Given the description of an element on the screen output the (x, y) to click on. 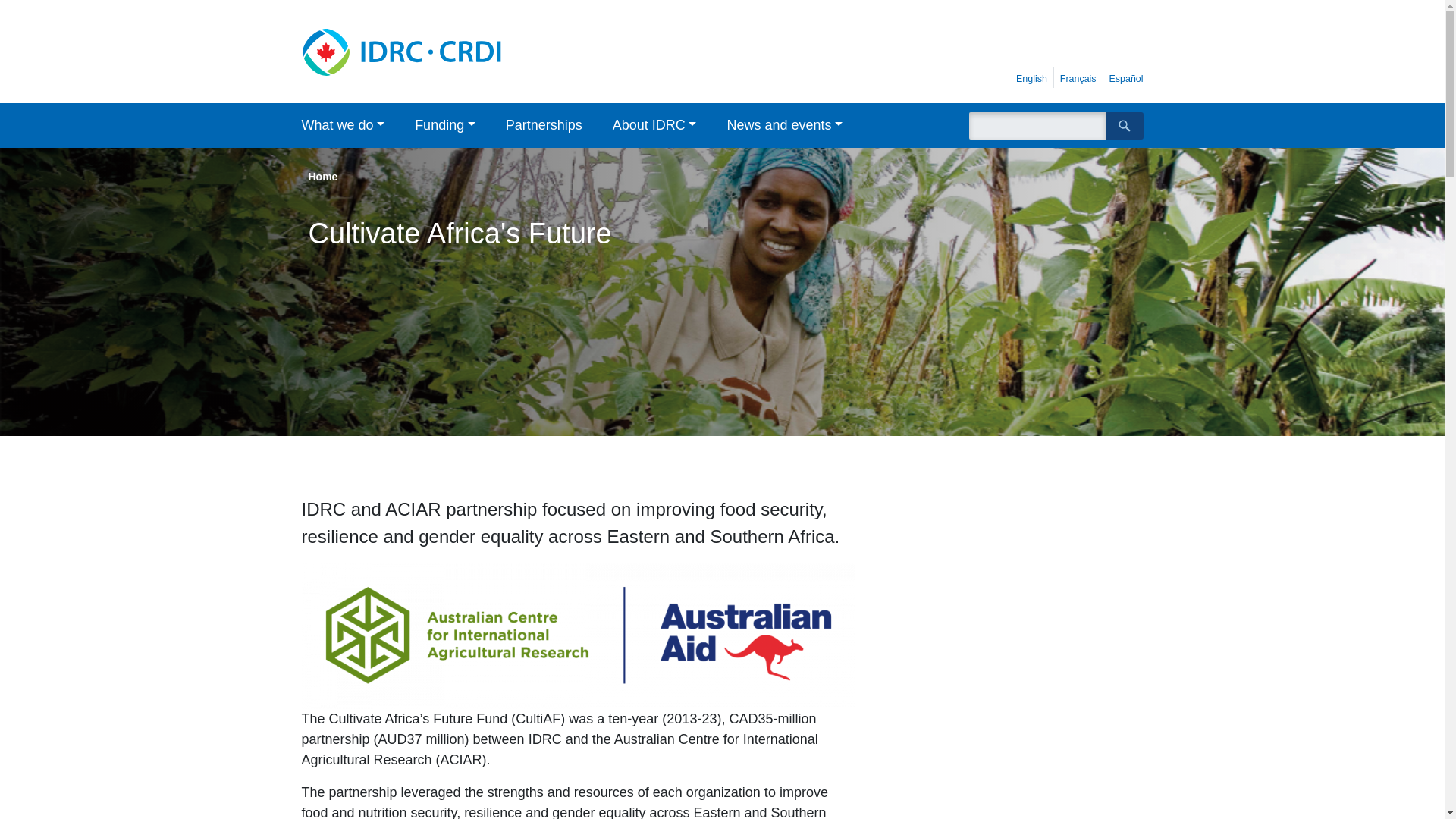
Partnerships (543, 125)
To homepage (1079, 37)
Search (1123, 125)
To homepage (434, 52)
Home (434, 52)
English (1031, 78)
